Given the description of an element on the screen output the (x, y) to click on. 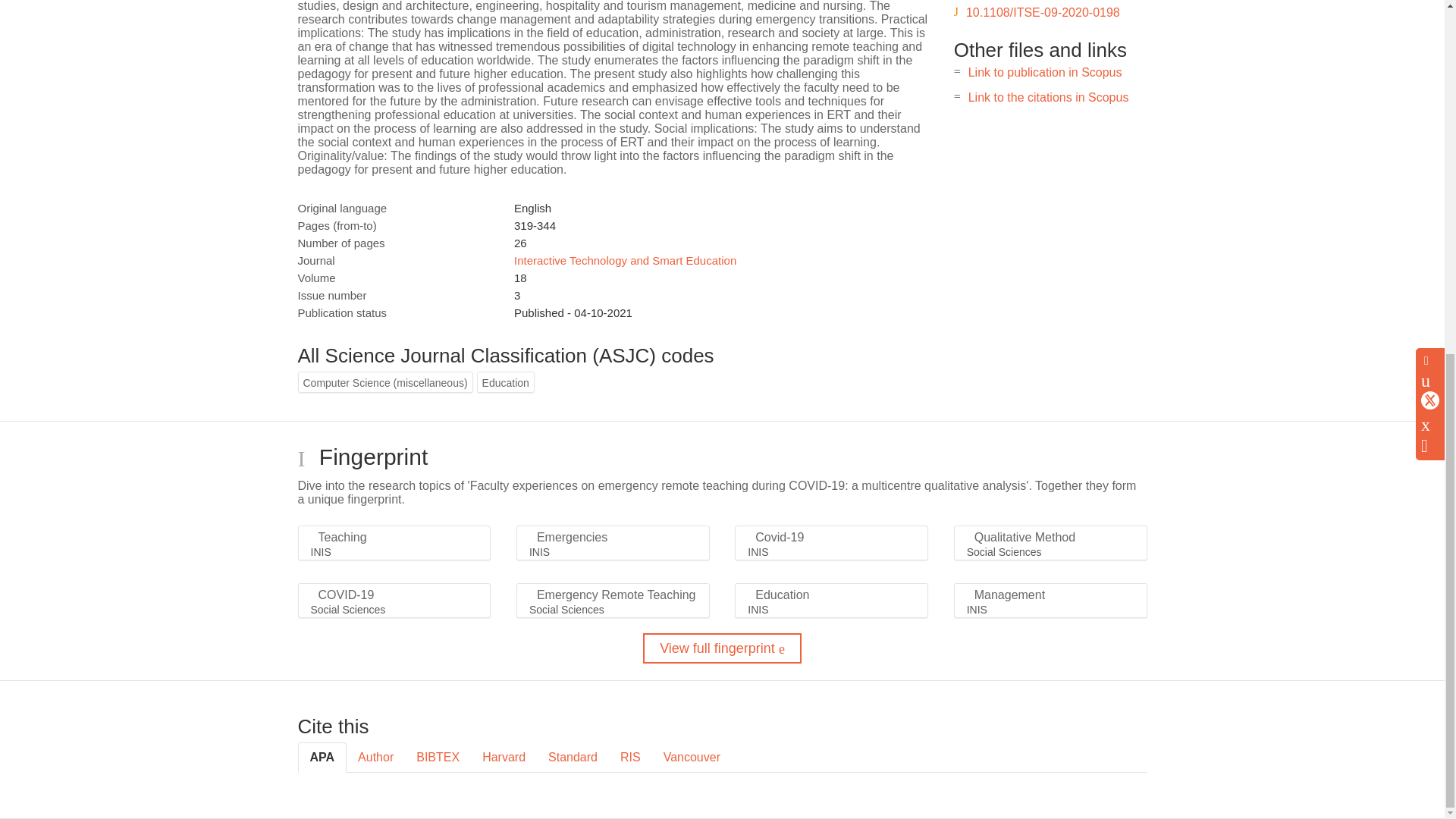
View full fingerprint (722, 648)
Link to the citations in Scopus (1048, 97)
Link to publication in Scopus (1045, 72)
Interactive Technology and Smart Education (624, 259)
